Given the description of an element on the screen output the (x, y) to click on. 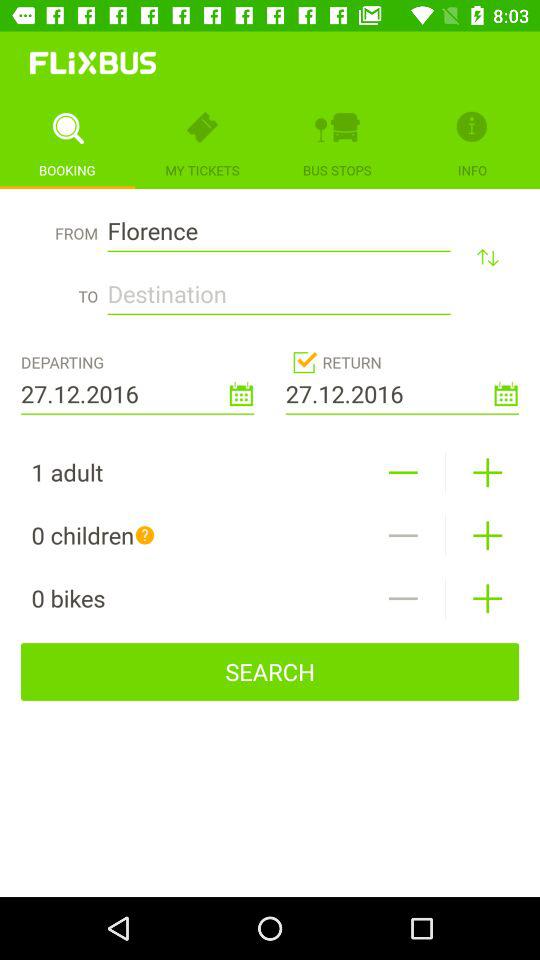
toggle up or down (487, 256)
